Given the description of an element on the screen output the (x, y) to click on. 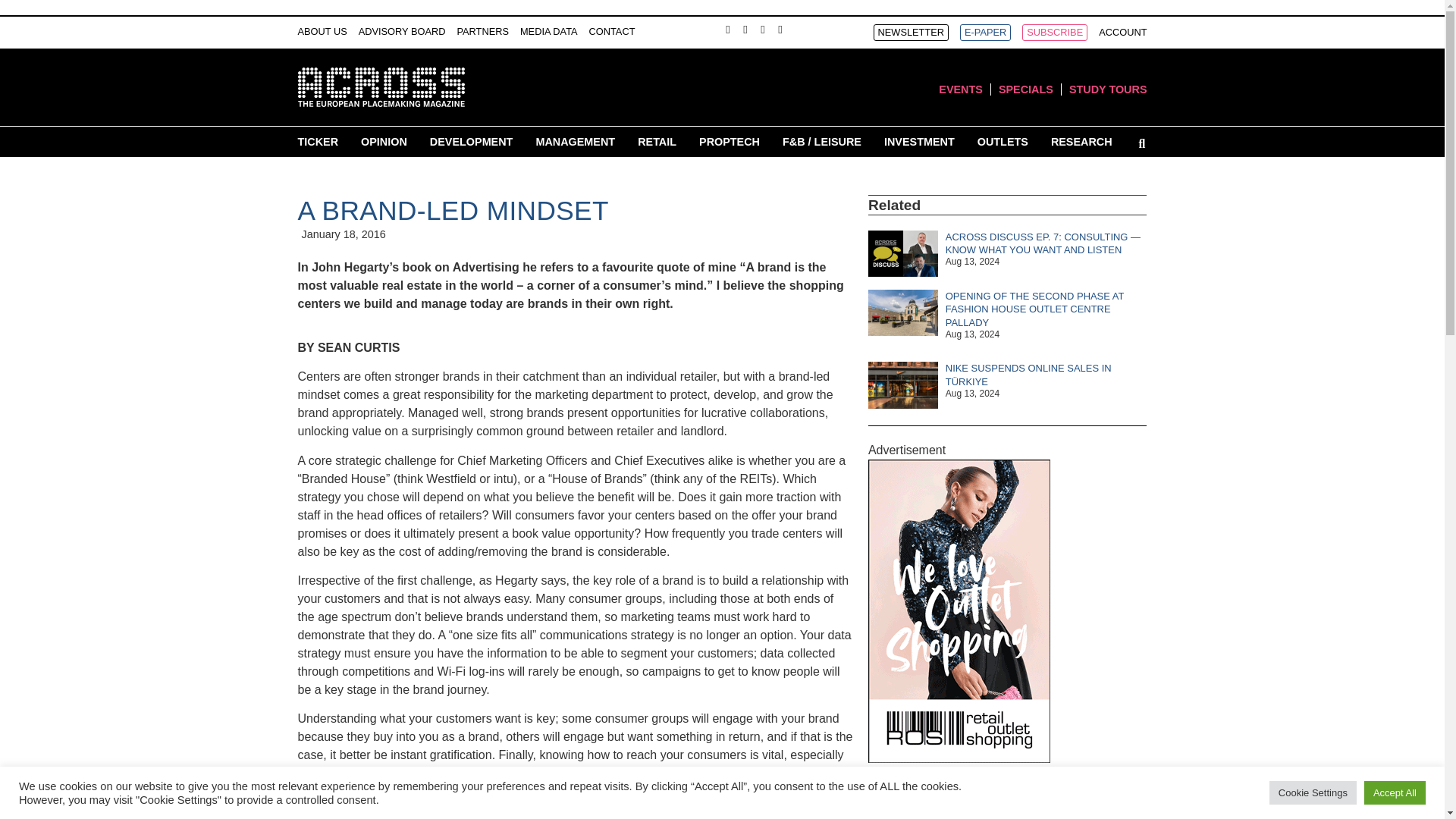
PROPTECH (729, 141)
EVENTS (960, 89)
SPECIALS (1025, 89)
Subscribe to the ACROSS Newsletter (911, 32)
CONTACT (611, 31)
RESEARCH (1081, 141)
RETAIL (657, 141)
MANAGEMENT (574, 141)
SUBSCRIBE (1054, 32)
DEVELOPMENT (471, 141)
